Given the description of an element on the screen output the (x, y) to click on. 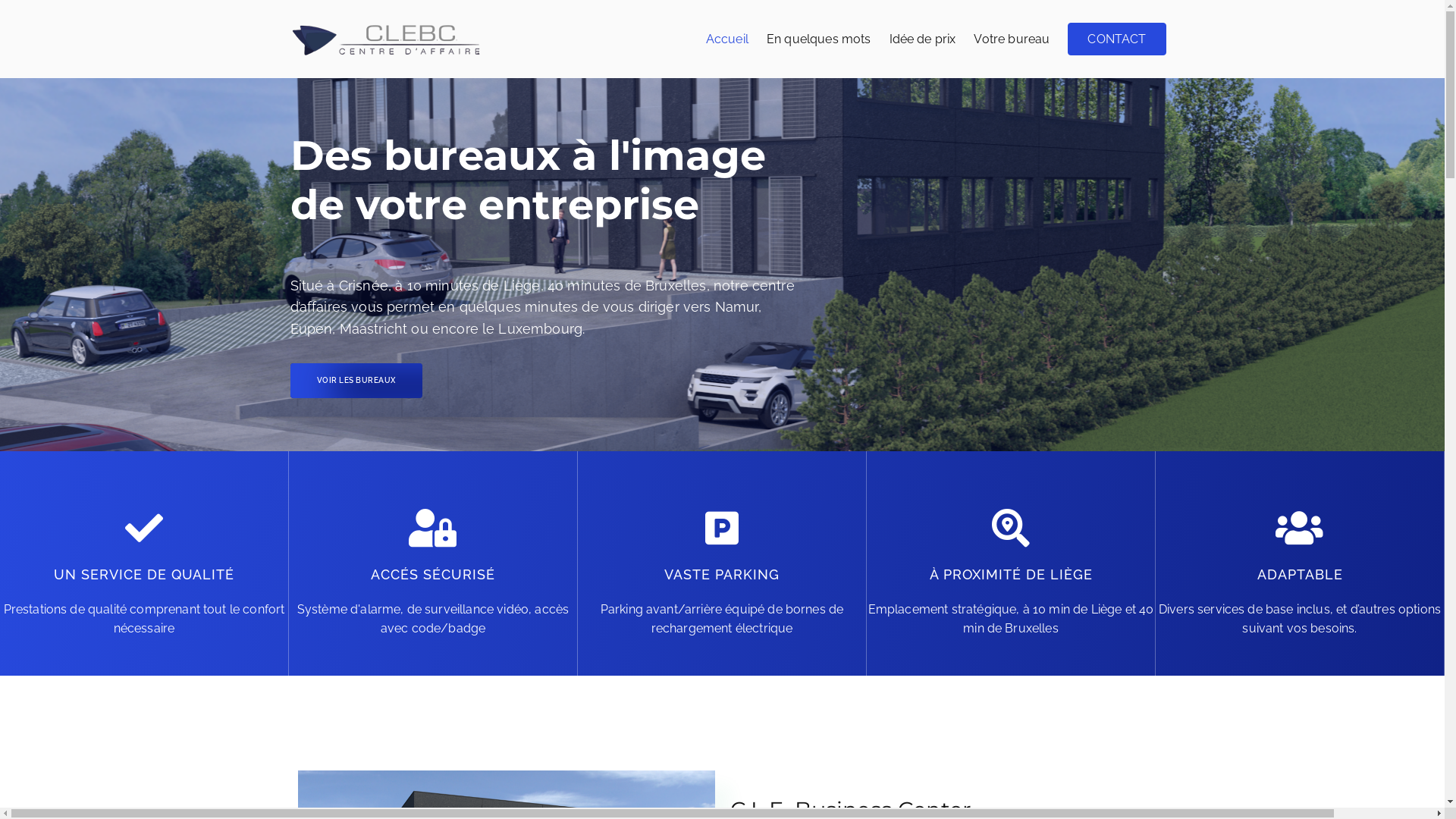
Votre bureau Element type: text (1011, 39)
En quelques mots Element type: text (818, 39)
C.L.E Business Center Element type: text (595, 48)
Accueil Element type: text (727, 39)
CONTACT Element type: text (1116, 39)
VOIR LES BUREAUX Element type: text (355, 380)
